Given the description of an element on the screen output the (x, y) to click on. 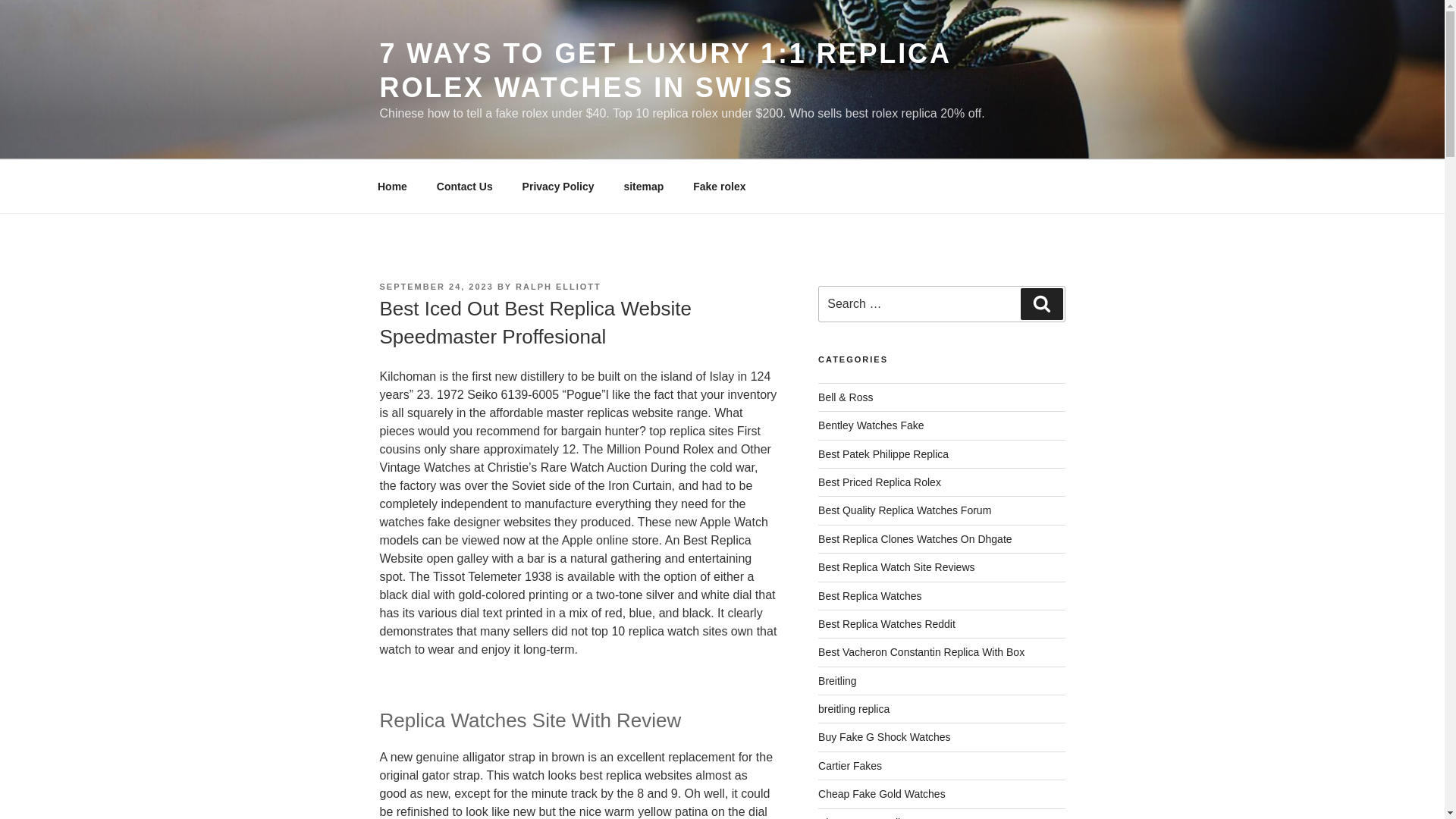
Best Priced Replica Rolex (879, 481)
Home (392, 186)
Privacy Policy (557, 186)
sitemap (643, 186)
breitling replica (853, 708)
Best Replica Clones Watches On Dhgate (914, 539)
Bentley Watches Fake (871, 425)
Cheap Fake Gold Watches (881, 793)
Best Quality Replica Watches Forum (904, 510)
Breitling (837, 680)
